Given the description of an element on the screen output the (x, y) to click on. 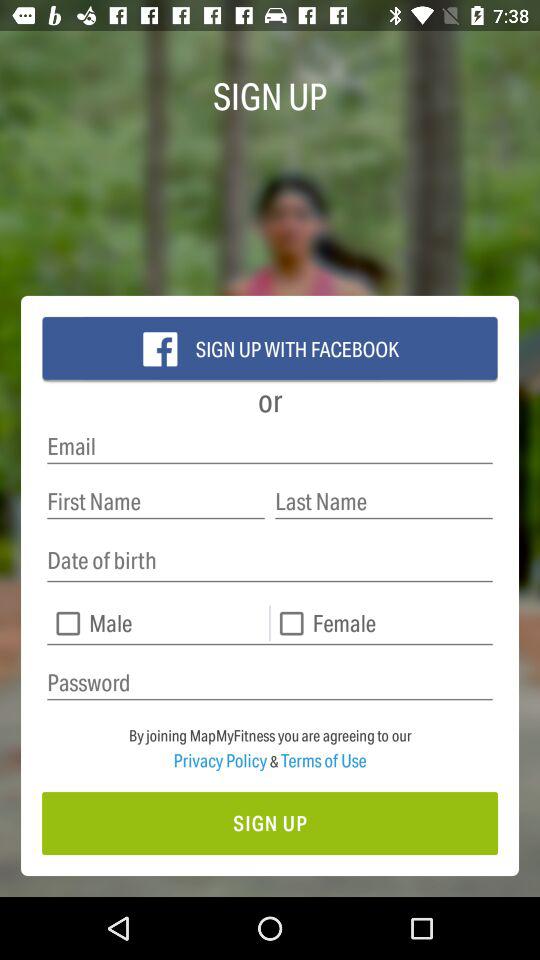
type email address (270, 446)
